Given the description of an element on the screen output the (x, y) to click on. 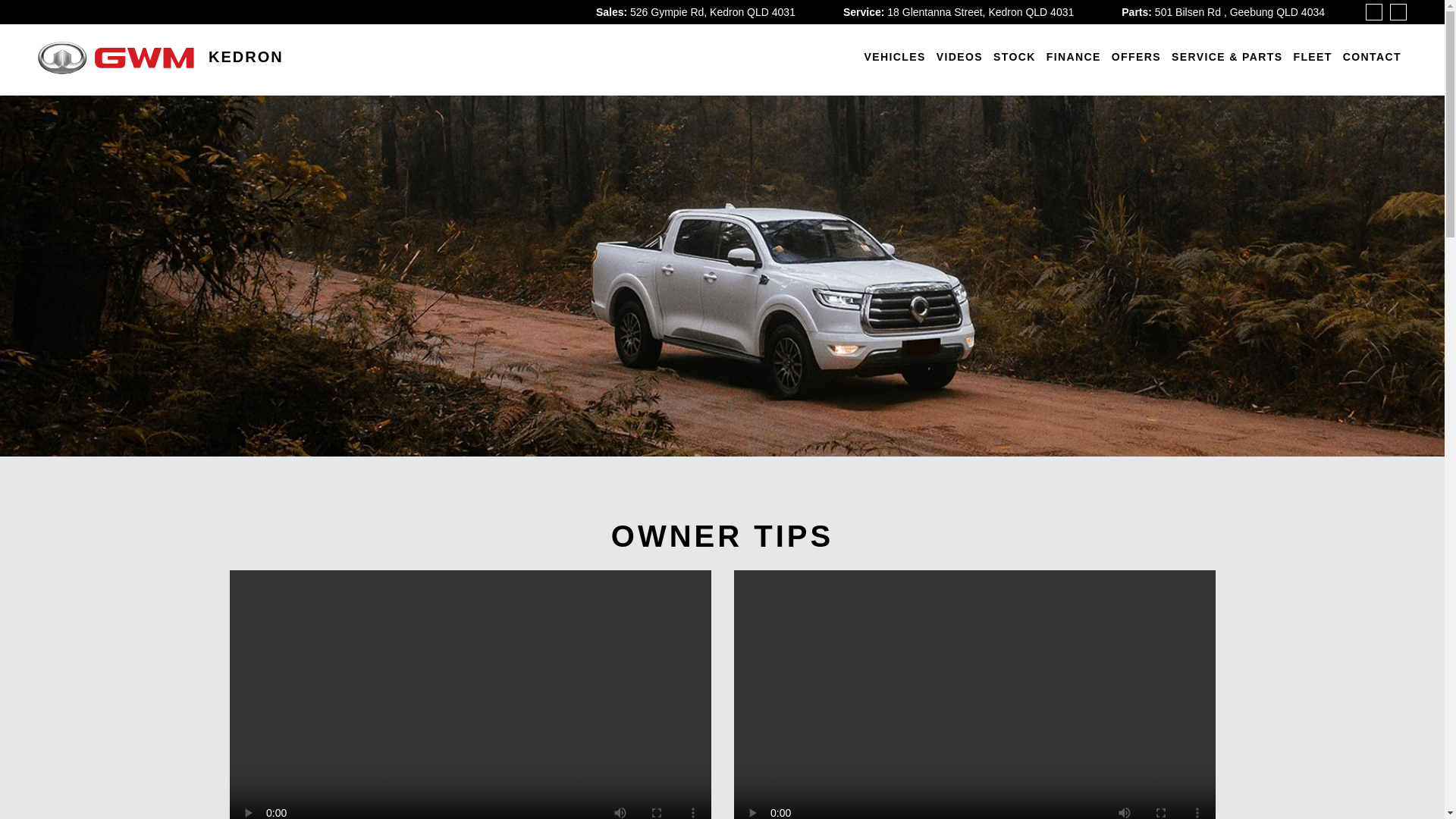
CONTACT Element type: text (1371, 57)
VEHICLES Element type: text (894, 57)
KEDRON Element type: text (170, 57)
OFFERS Element type: text (1136, 57)
FINANCE Element type: text (1073, 57)
VIDEOS Element type: text (959, 57)
Service: 18 Glentanna Street, Kedron QLD 4031 Element type: text (958, 12)
Parts: 501 Bilsen Rd , Geebung QLD 4034 Element type: text (1222, 12)
FLEET Element type: text (1311, 57)
STOCK Element type: text (1014, 57)
SERVICE & PARTS Element type: text (1227, 57)
Sales: 526 Gympie Rd, Kedron QLD 4031 Element type: text (695, 12)
